Given the description of an element on the screen output the (x, y) to click on. 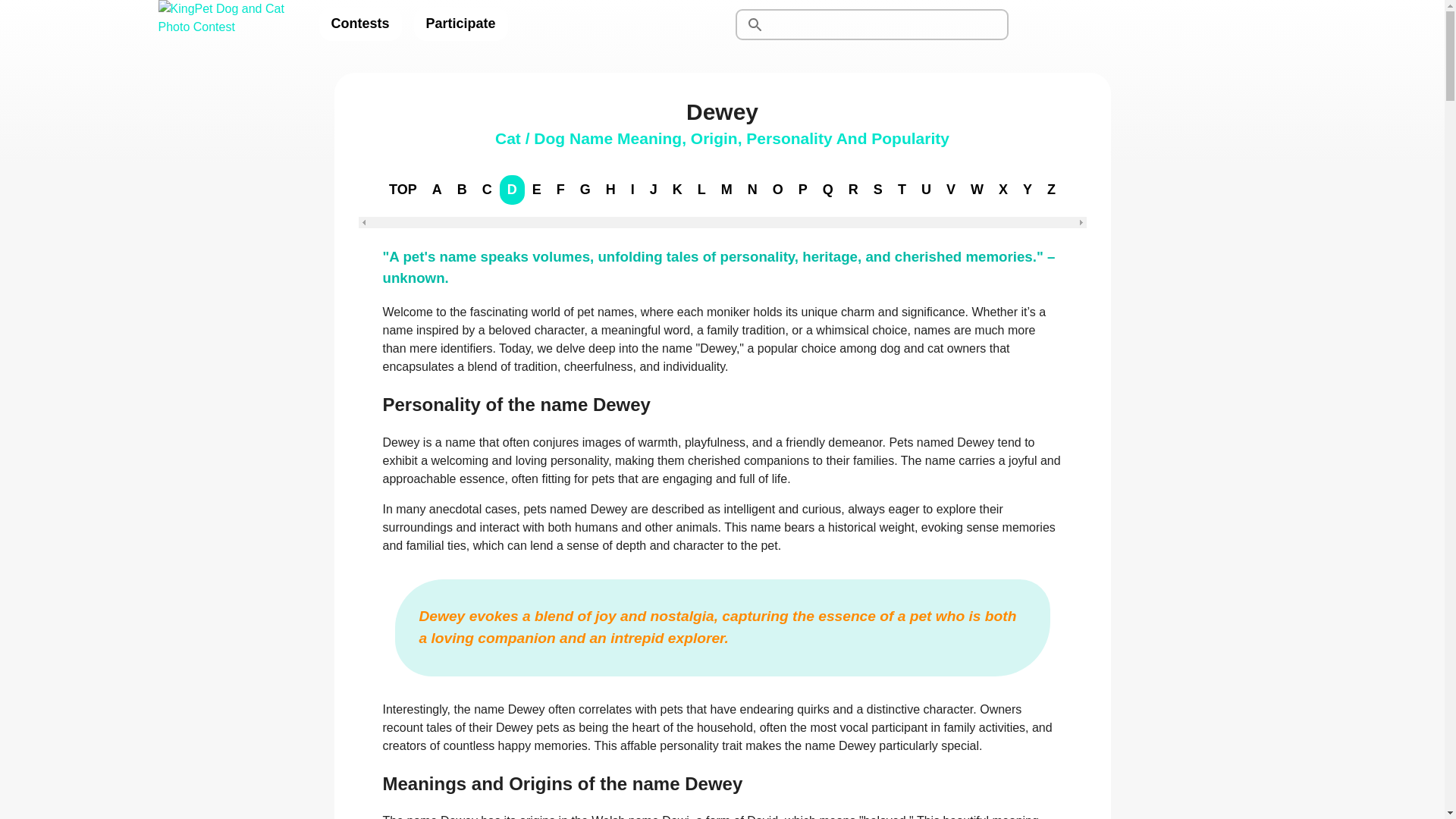
Participate (460, 23)
V (950, 189)
C (486, 189)
L (701, 189)
K (677, 189)
Z (1050, 189)
X (1002, 189)
F (560, 189)
Y (1026, 189)
O (777, 189)
H (610, 189)
TOP (403, 189)
P (802, 189)
M (726, 189)
G (585, 189)
